Given the description of an element on the screen output the (x, y) to click on. 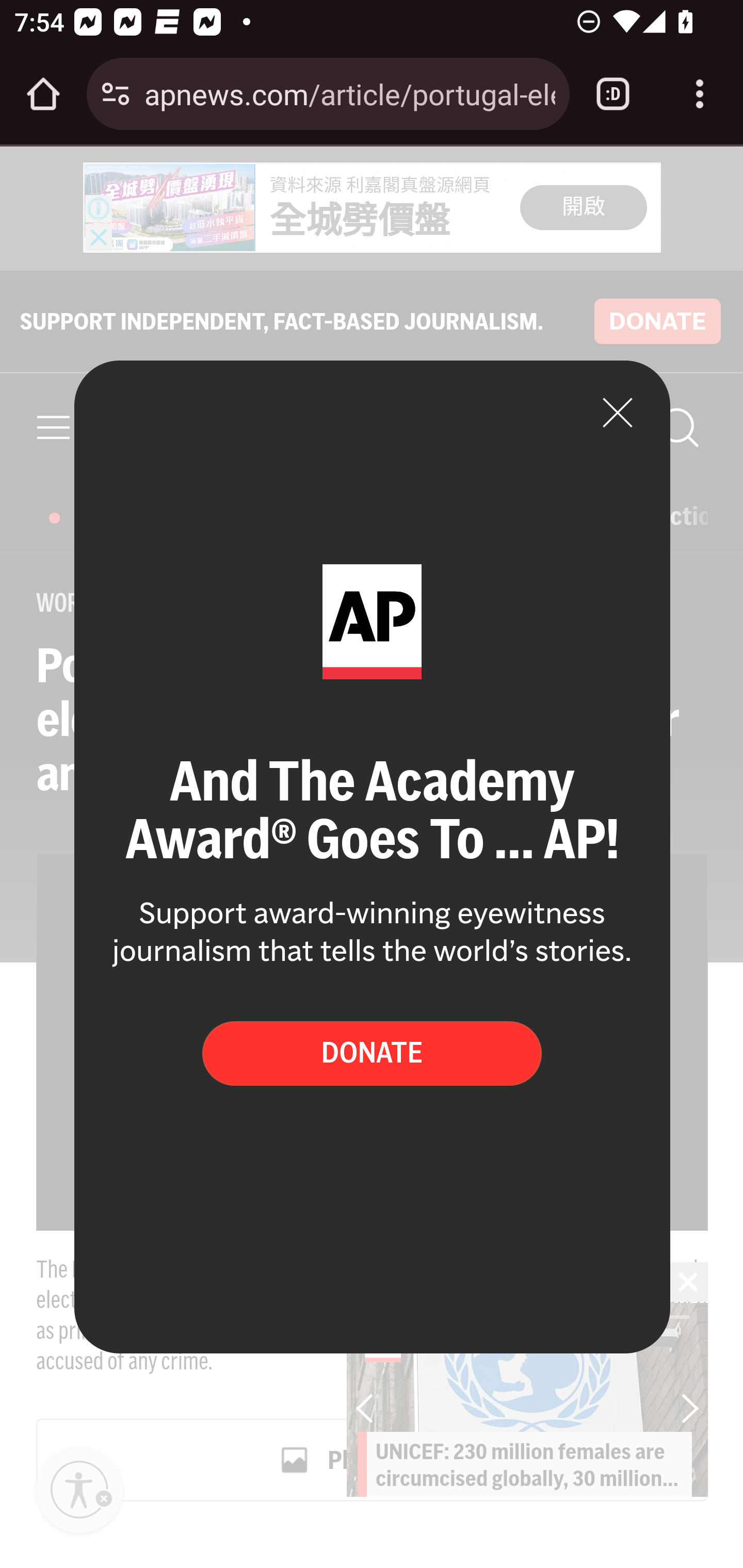
Open the home page (43, 93)
Connection is secure (115, 93)
Switch or close tabs (612, 93)
Customize and control Google Chrome (699, 93)
close promotional dialog (618, 412)
DONATE (371, 1052)
